Given the description of an element on the screen output the (x, y) to click on. 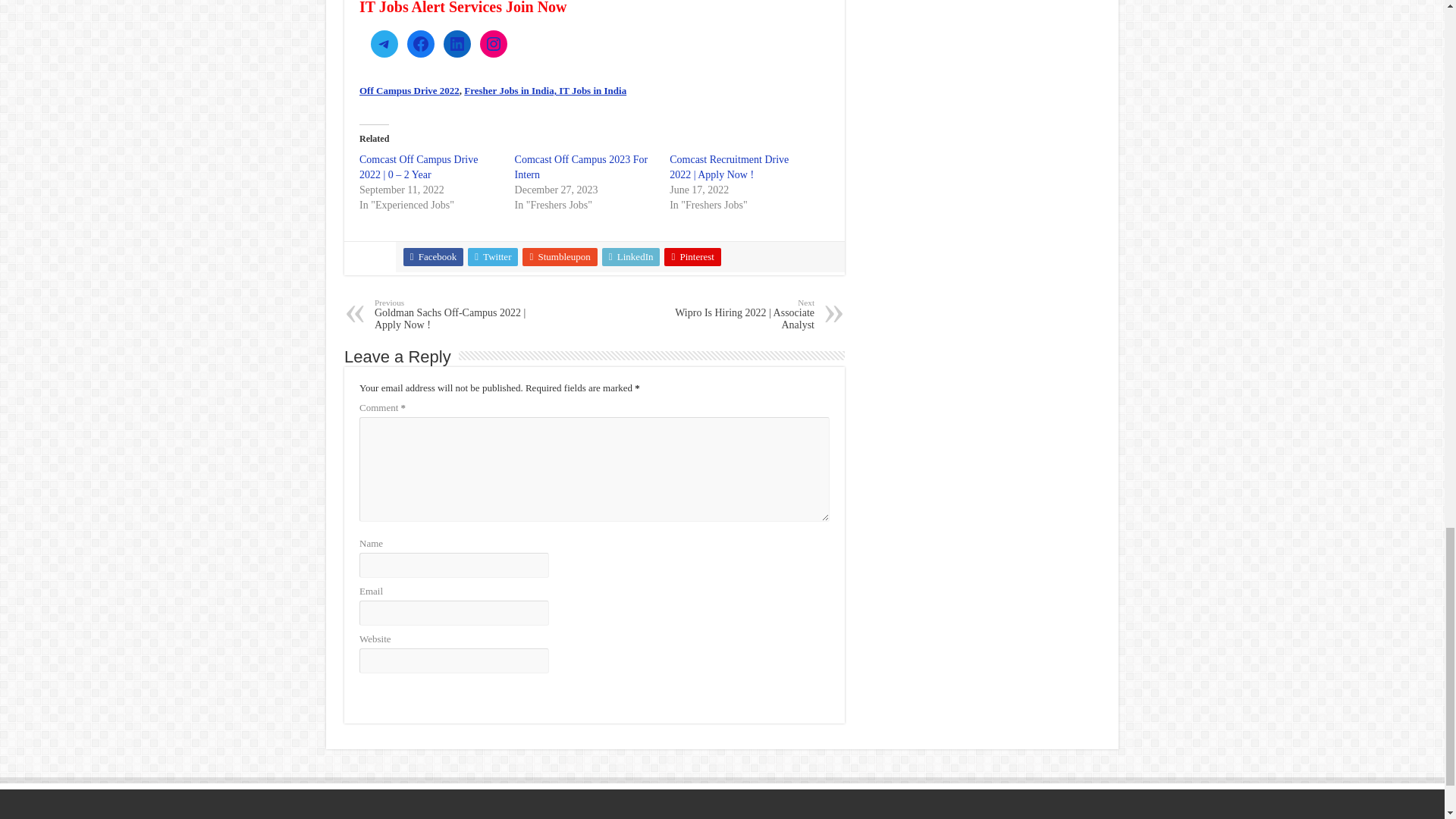
Post Comment (394, 692)
